Given the description of an element on the screen output the (x, y) to click on. 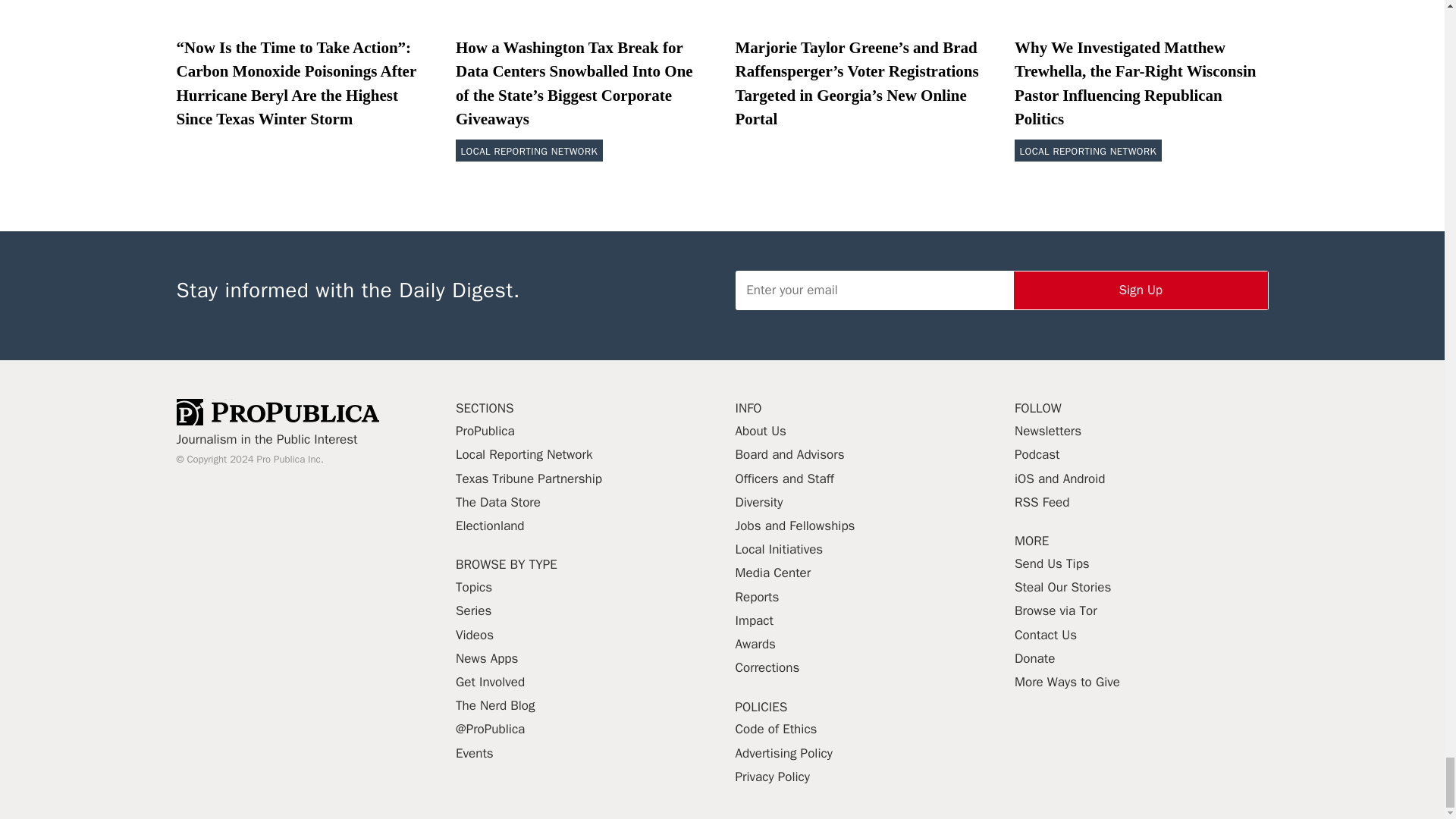
Sign Up (1140, 290)
